Given the description of an element on the screen output the (x, y) to click on. 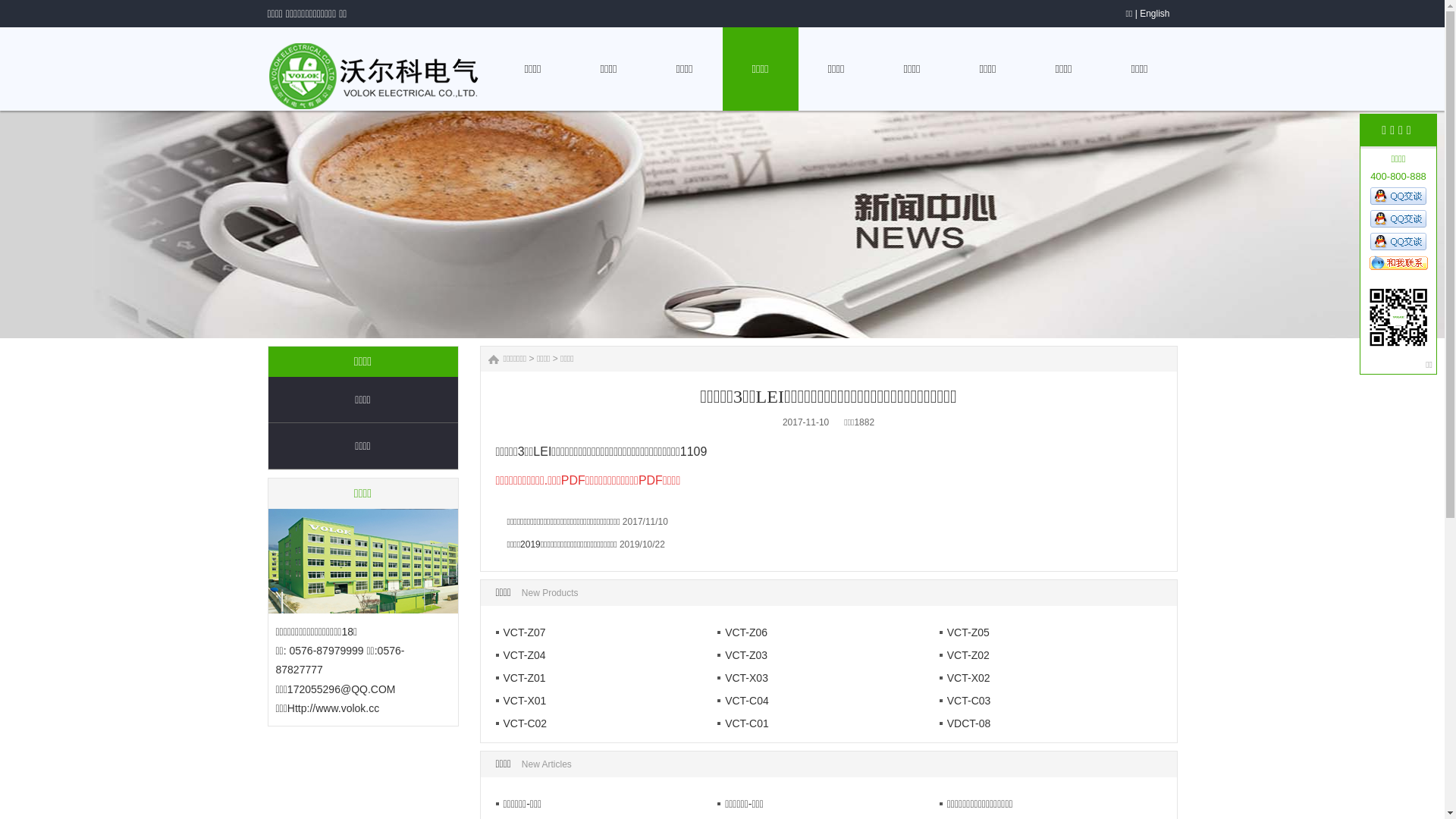
VCT-X02 Element type: text (964, 677)
VCT-X03 Element type: text (742, 677)
VCT-C04 Element type: text (742, 700)
VCT-C02 Element type: text (521, 723)
Http://www.volok.cc Element type: text (333, 708)
VCT-Z05 Element type: text (964, 632)
VCT-C01 Element type: text (742, 723)
VCT-Z04 Element type: text (520, 655)
VCT-X01 Element type: text (520, 700)
VCT-Z03 Element type: text (742, 655)
English Element type: text (1154, 13)
VCT-Z02 Element type: text (964, 655)
VCT-Z06 Element type: text (742, 632)
VCT-C03 Element type: text (965, 700)
VDCT-08 Element type: text (965, 723)
VCT-Z07 Element type: text (520, 632)
VCT-Z01 Element type: text (520, 677)
